Given the description of an element on the screen output the (x, y) to click on. 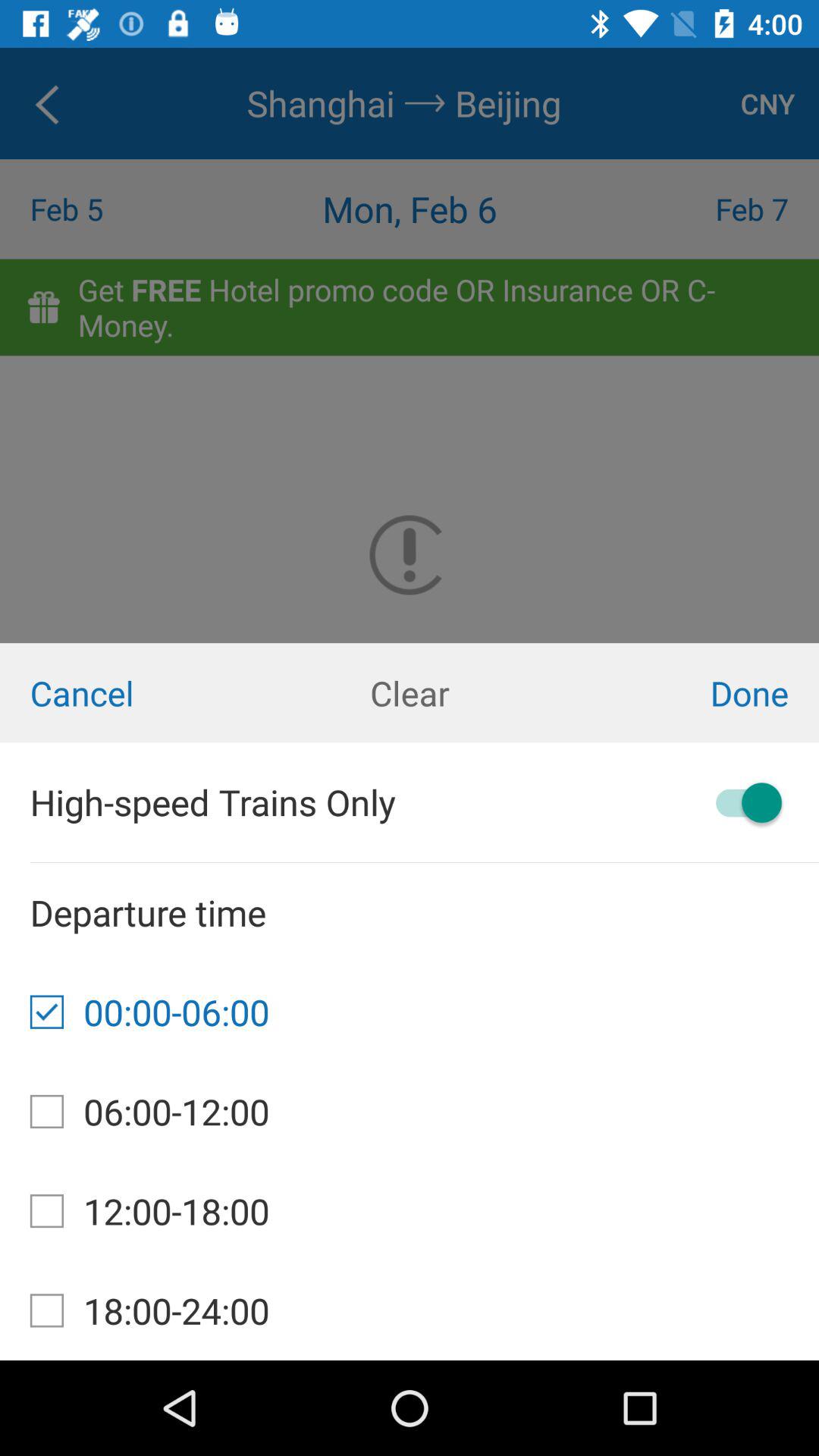
select the item on the left (136, 692)
